Given the description of an element on the screen output the (x, y) to click on. 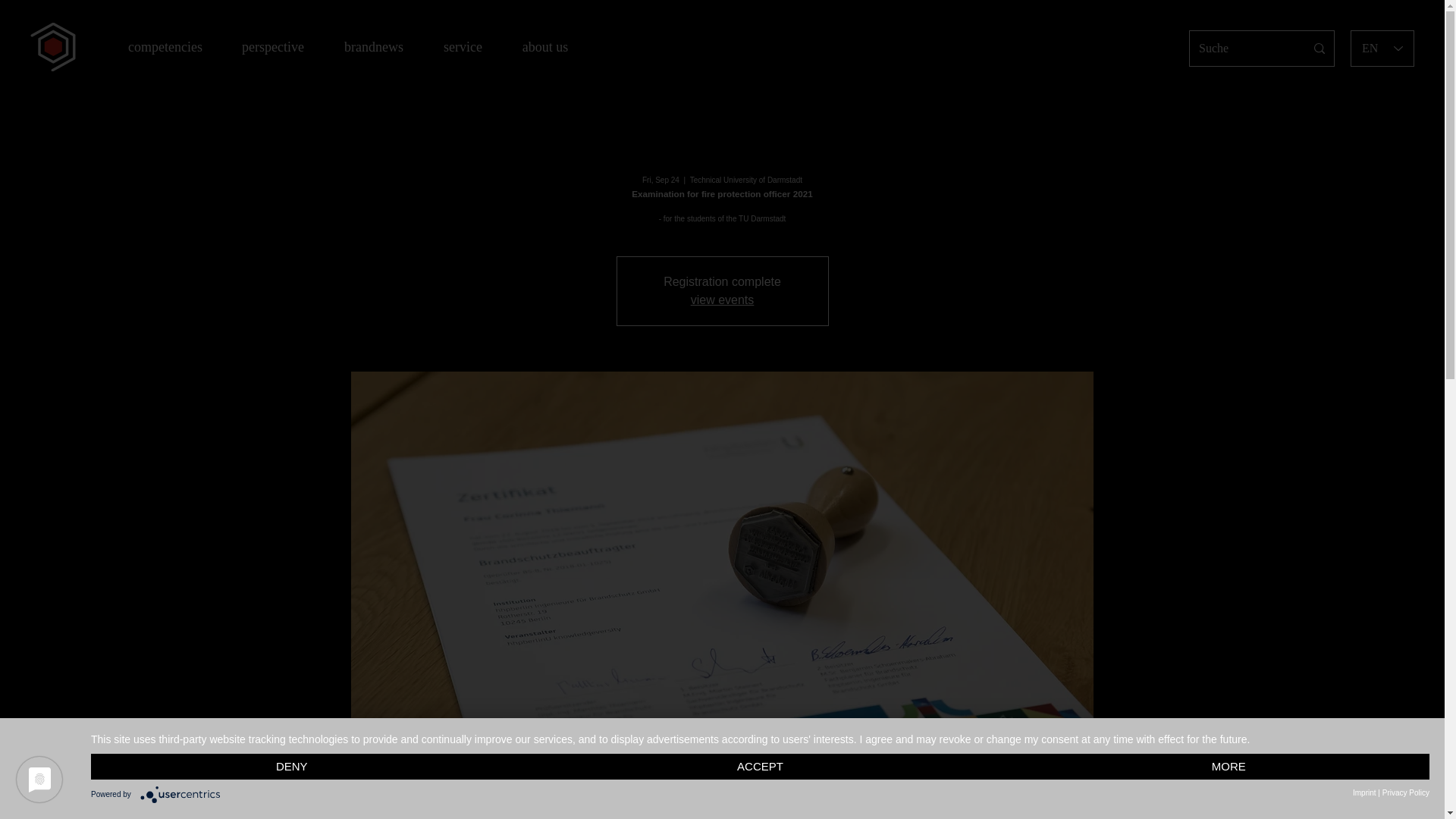
DENY (291, 766)
ACCEPT (760, 766)
service (462, 45)
Imprint (1363, 792)
MORE (1228, 766)
competencies (164, 45)
about us (545, 45)
brandnews (373, 45)
Homepage (52, 46)
perspective (272, 45)
